Given the description of an element on the screen output the (x, y) to click on. 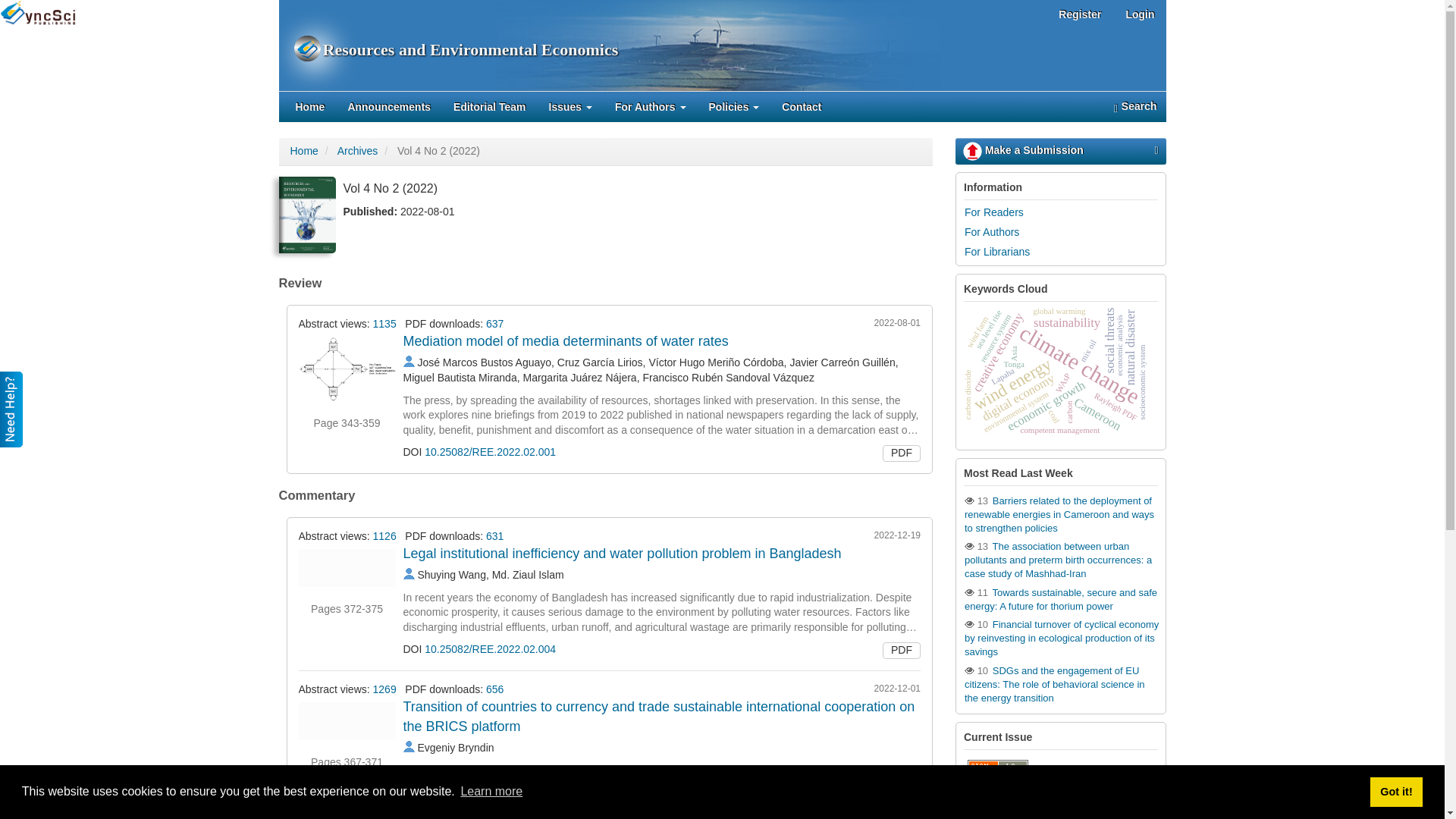
SyncSci Publishing homepage (37, 10)
Archives (357, 150)
PDF (901, 453)
Editorial Team (489, 106)
Got it! (1396, 791)
Mediation model of media determinants of water rates (566, 340)
Login (1139, 15)
Home (303, 150)
Search (1134, 106)
Learn more (491, 791)
